Given the description of an element on the screen output the (x, y) to click on. 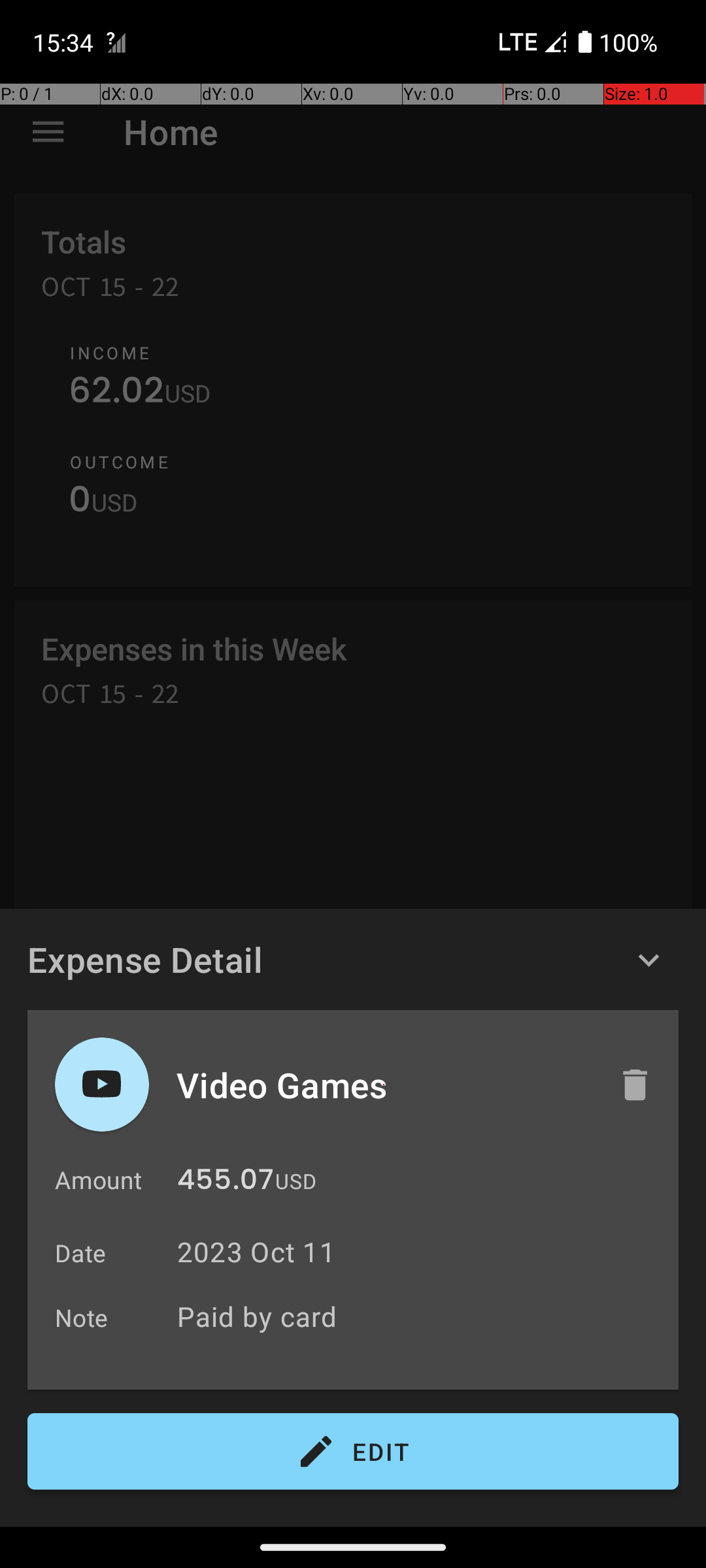
455.07 Element type: android.widget.TextView (225, 1182)
